Given the description of an element on the screen output the (x, y) to click on. 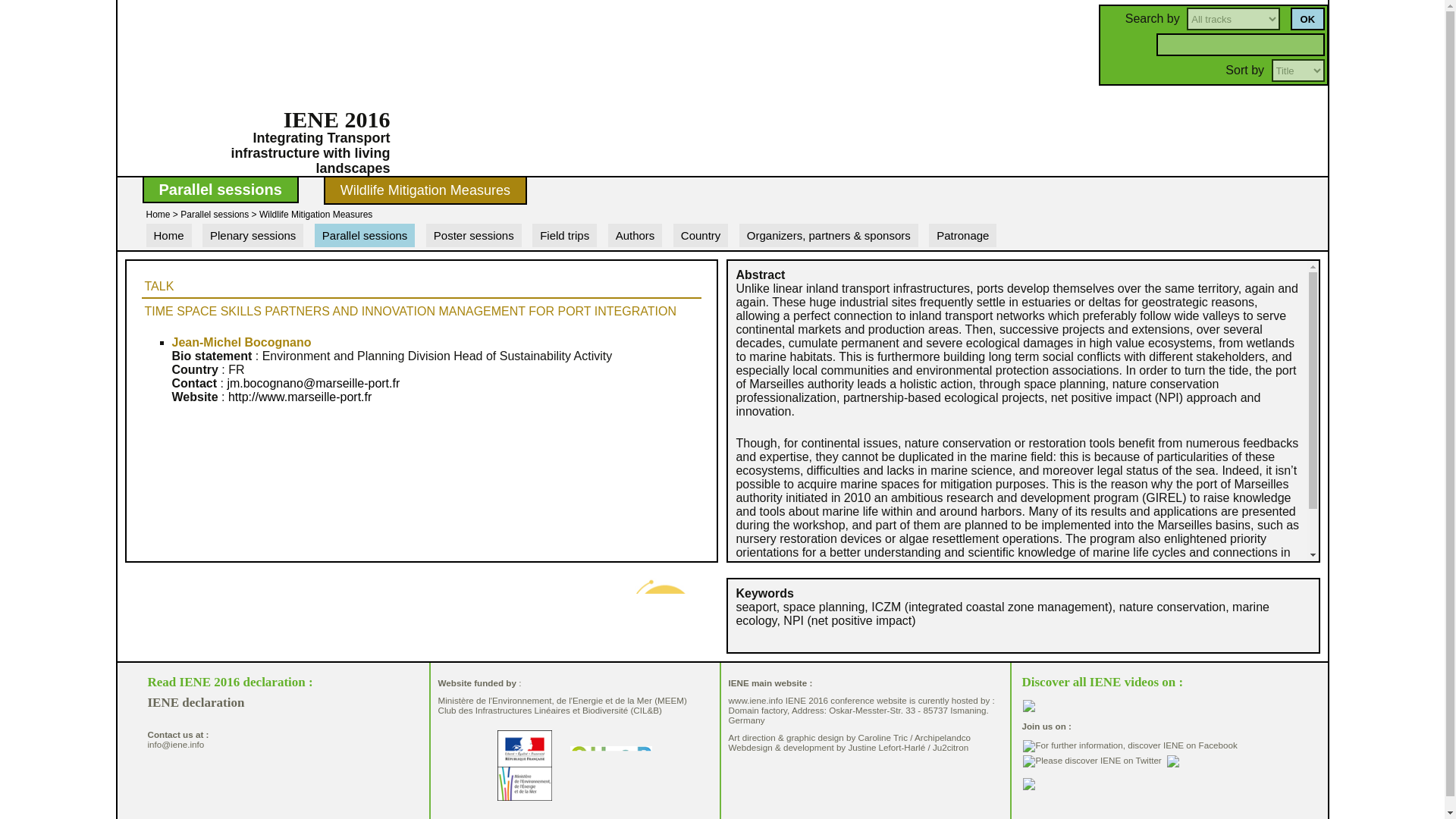
Authors (635, 235)
Acueil du site IENE 2016 (157, 214)
Parallel sessions TYPE (387, 259)
FieldTrip1 (603, 259)
OK (1306, 18)
Ju2citron (950, 747)
OK (1306, 18)
Field trips (564, 235)
